Given the description of an element on the screen output the (x, y) to click on. 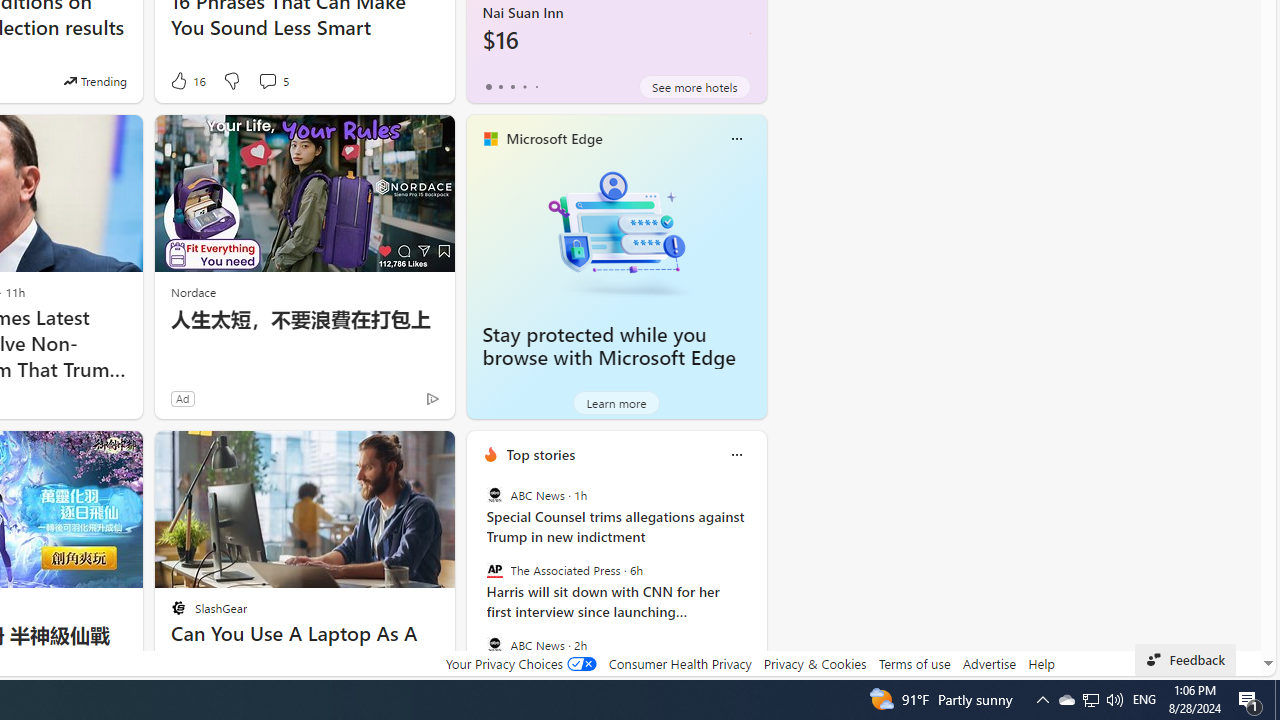
Hide this story (393, 454)
tab-2 (511, 86)
View comments 5 Comment (272, 80)
ABC News (494, 644)
16 Like (186, 80)
Class: icon-img (736, 454)
Your Privacy Choices (520, 663)
tab-0 (488, 86)
Terms of use (914, 663)
